Given the description of an element on the screen output the (x, y) to click on. 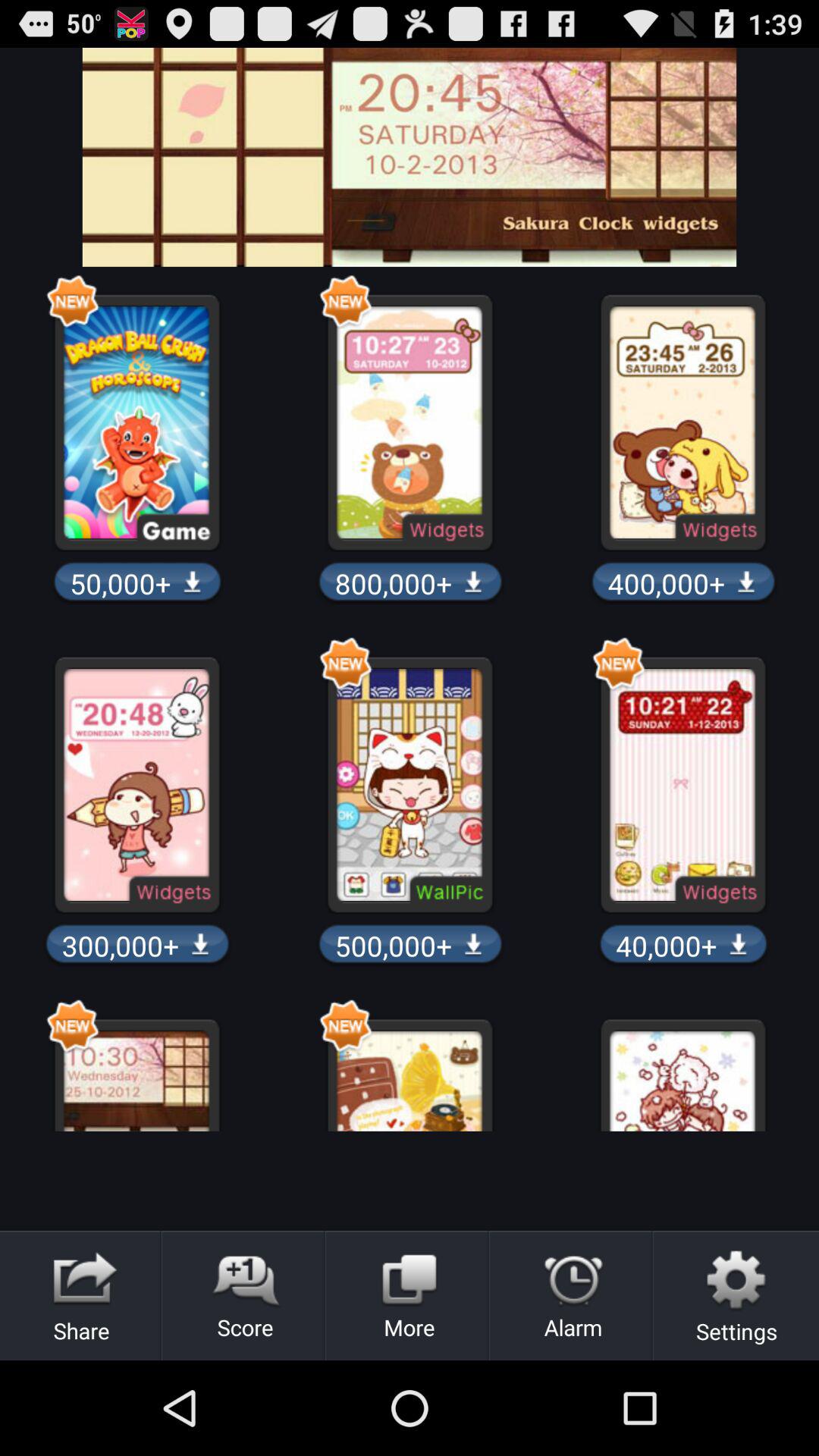
select clock widget (409, 156)
